Given the description of an element on the screen output the (x, y) to click on. 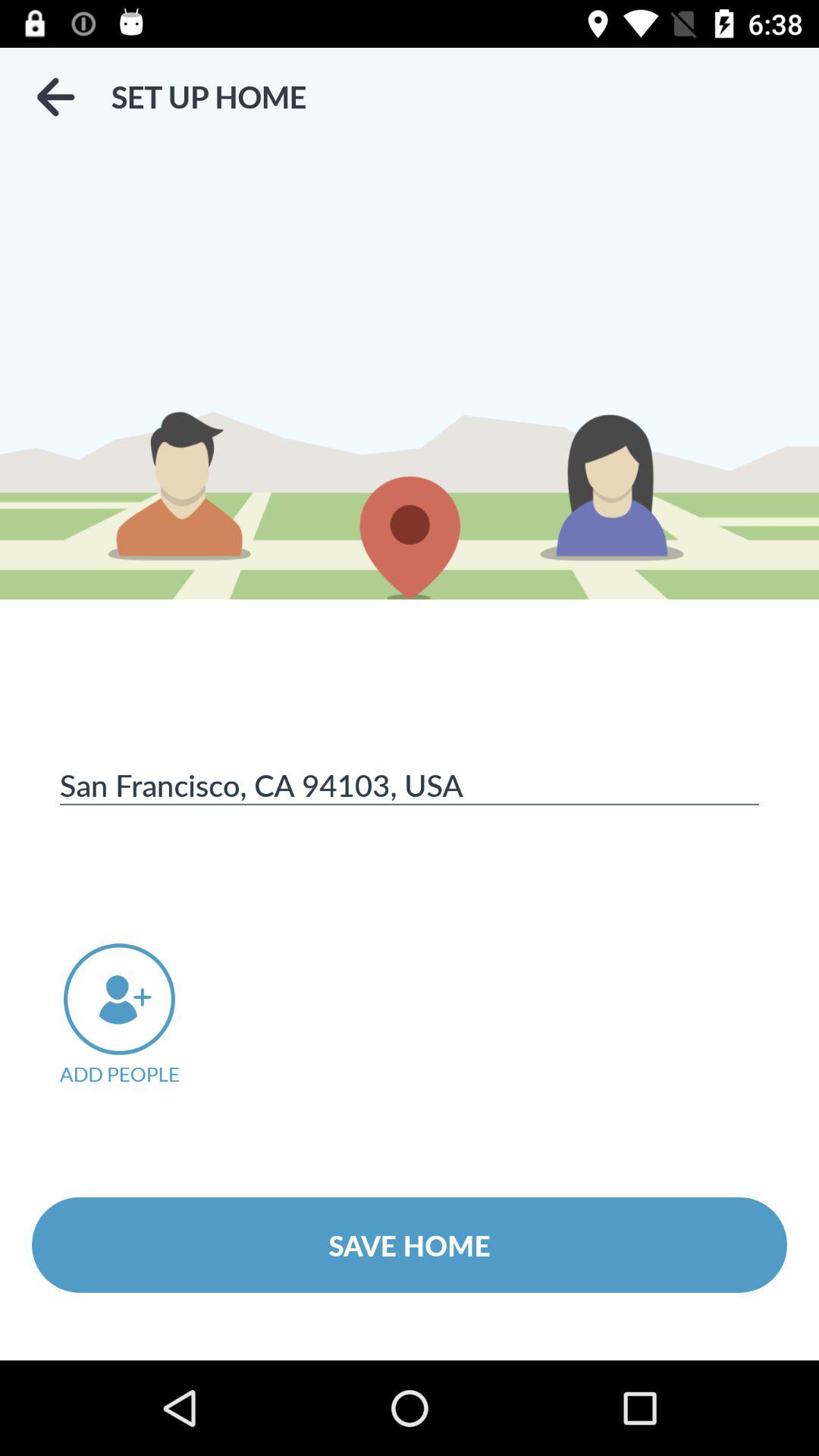
open the save home icon (409, 1244)
